Given the description of an element on the screen output the (x, y) to click on. 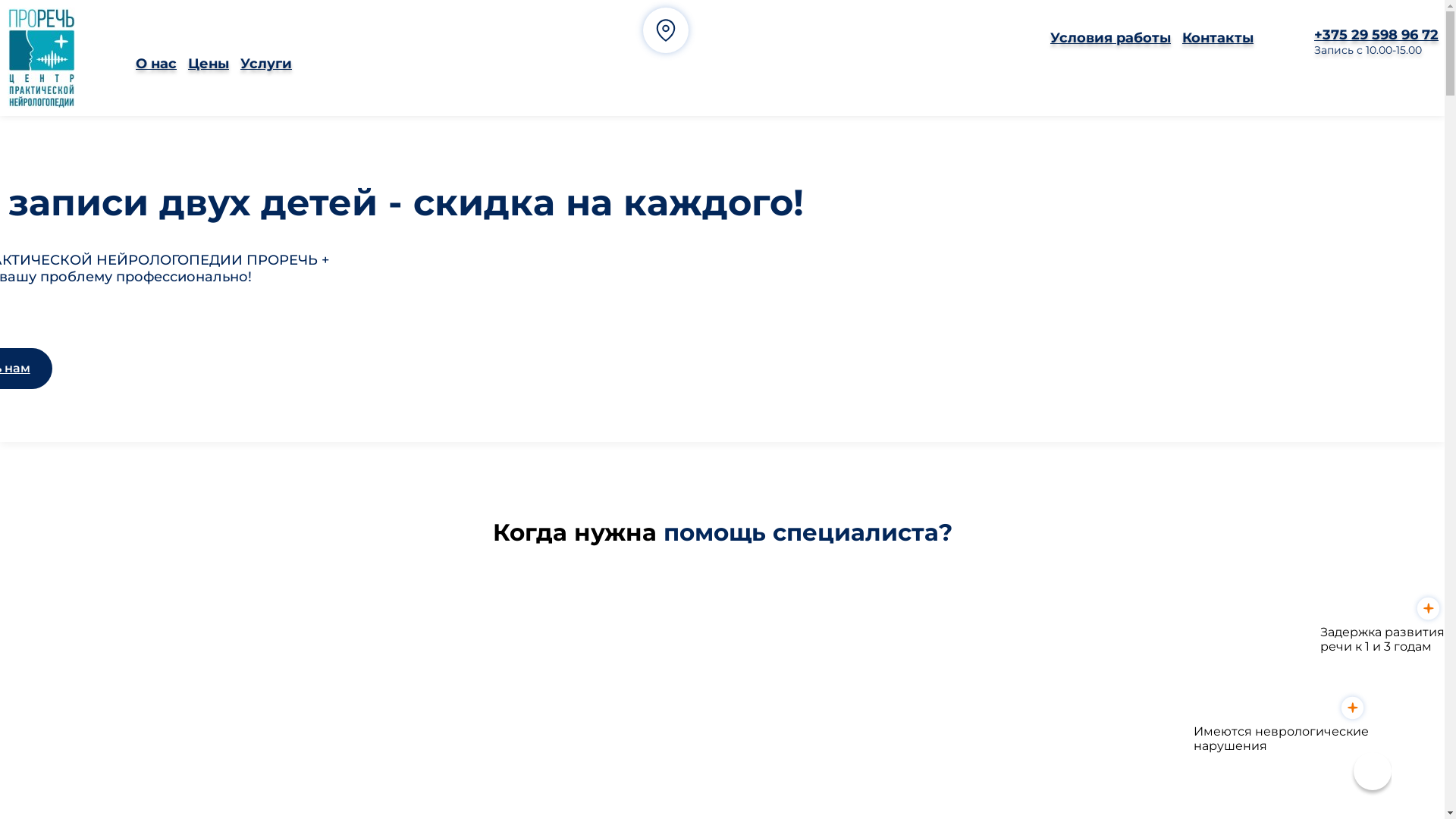
+375 29 598 96 72 Element type: text (1376, 34)
